Given the description of an element on the screen output the (x, y) to click on. 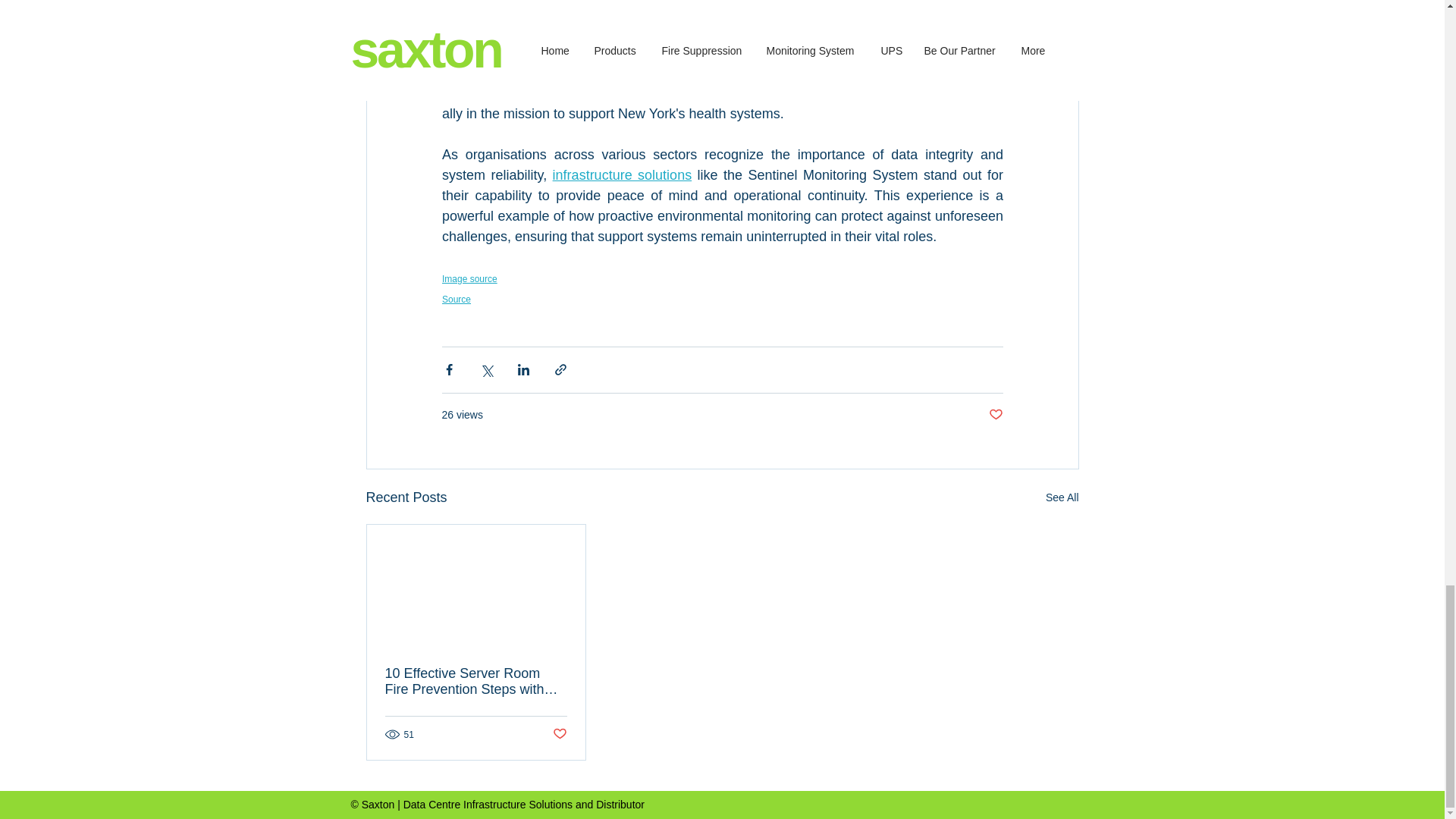
Post not marked as liked (558, 734)
infrastructure solutions (621, 174)
Image source (468, 277)
Source (455, 297)
Post not marked as liked (995, 415)
See All (1061, 497)
